Given the description of an element on the screen output the (x, y) to click on. 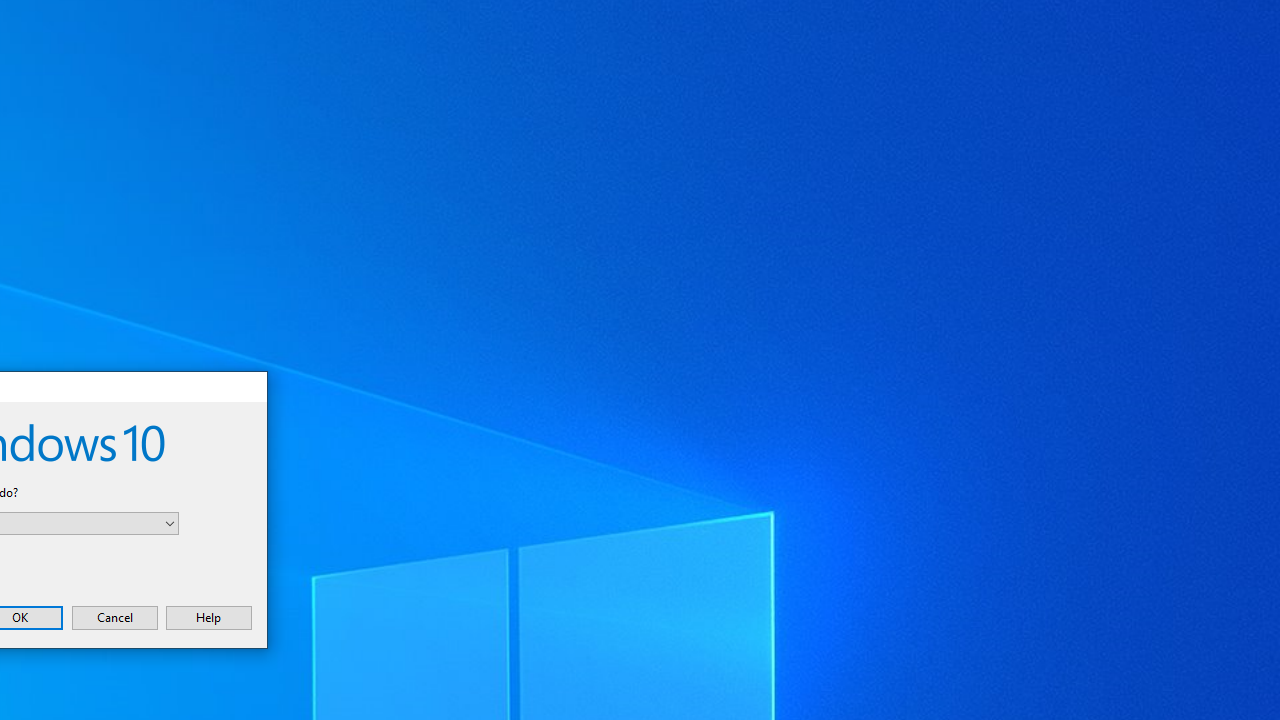
Cancel (114, 617)
